Given the description of an element on the screen output the (x, y) to click on. 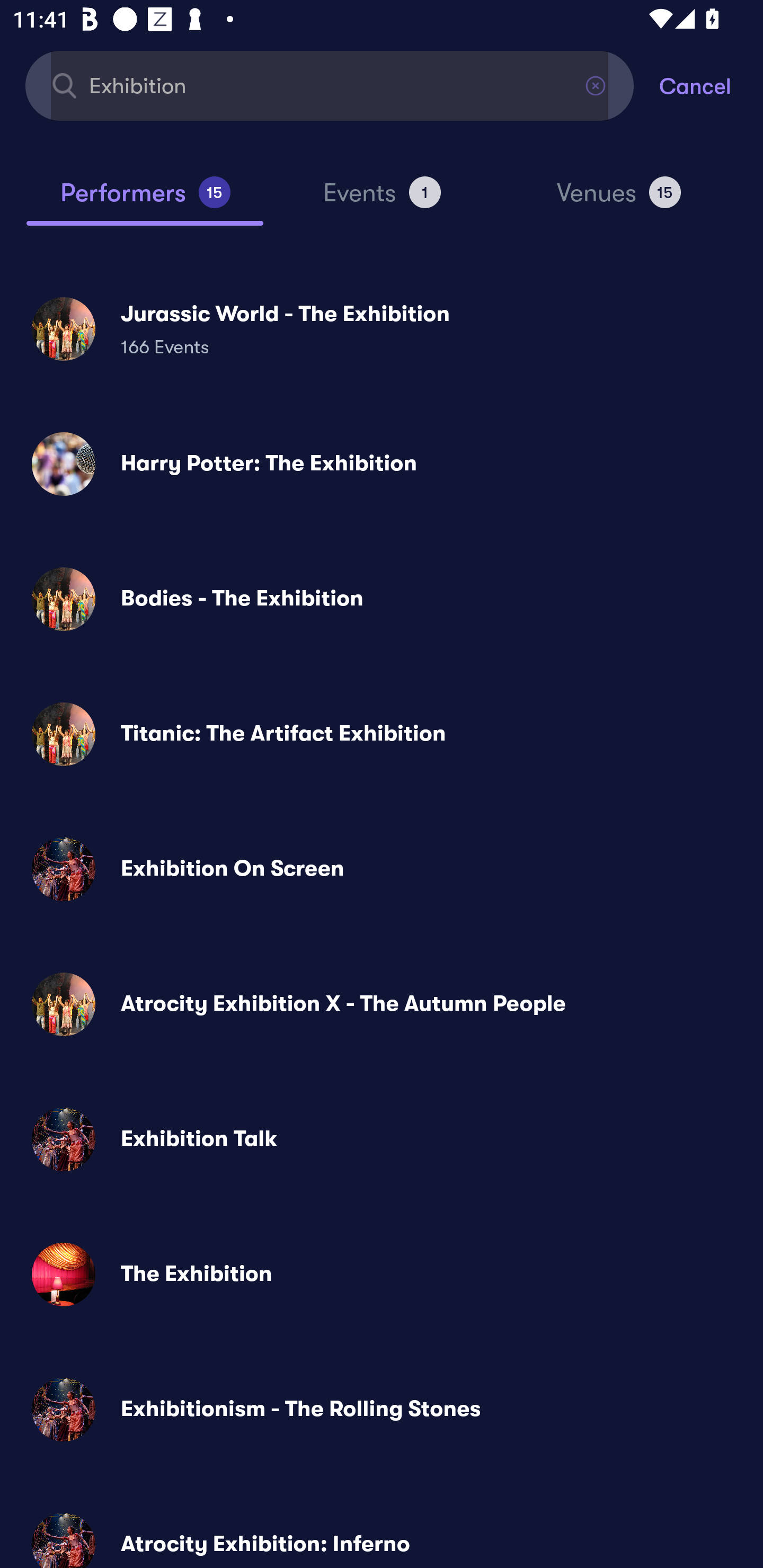
Exhibition Find (329, 85)
Exhibition Find (329, 85)
Cancel (711, 85)
Performers 15 (144, 200)
Events 1 (381, 200)
Venues 15 (618, 200)
Jurassic World - The Exhibition 166 Events (381, 328)
Harry Potter: The Exhibition (381, 464)
Bodies - The Exhibition (381, 598)
Titanic: The Artifact Exhibition (381, 734)
Exhibition On Screen (381, 869)
Atrocity Exhibition X - The Autumn People (381, 1004)
Exhibition Talk (381, 1138)
The Exhibition (381, 1273)
Exhibitionism - The Rolling Stones (381, 1409)
Atrocity Exhibition: Inferno (381, 1532)
